Given the description of an element on the screen output the (x, y) to click on. 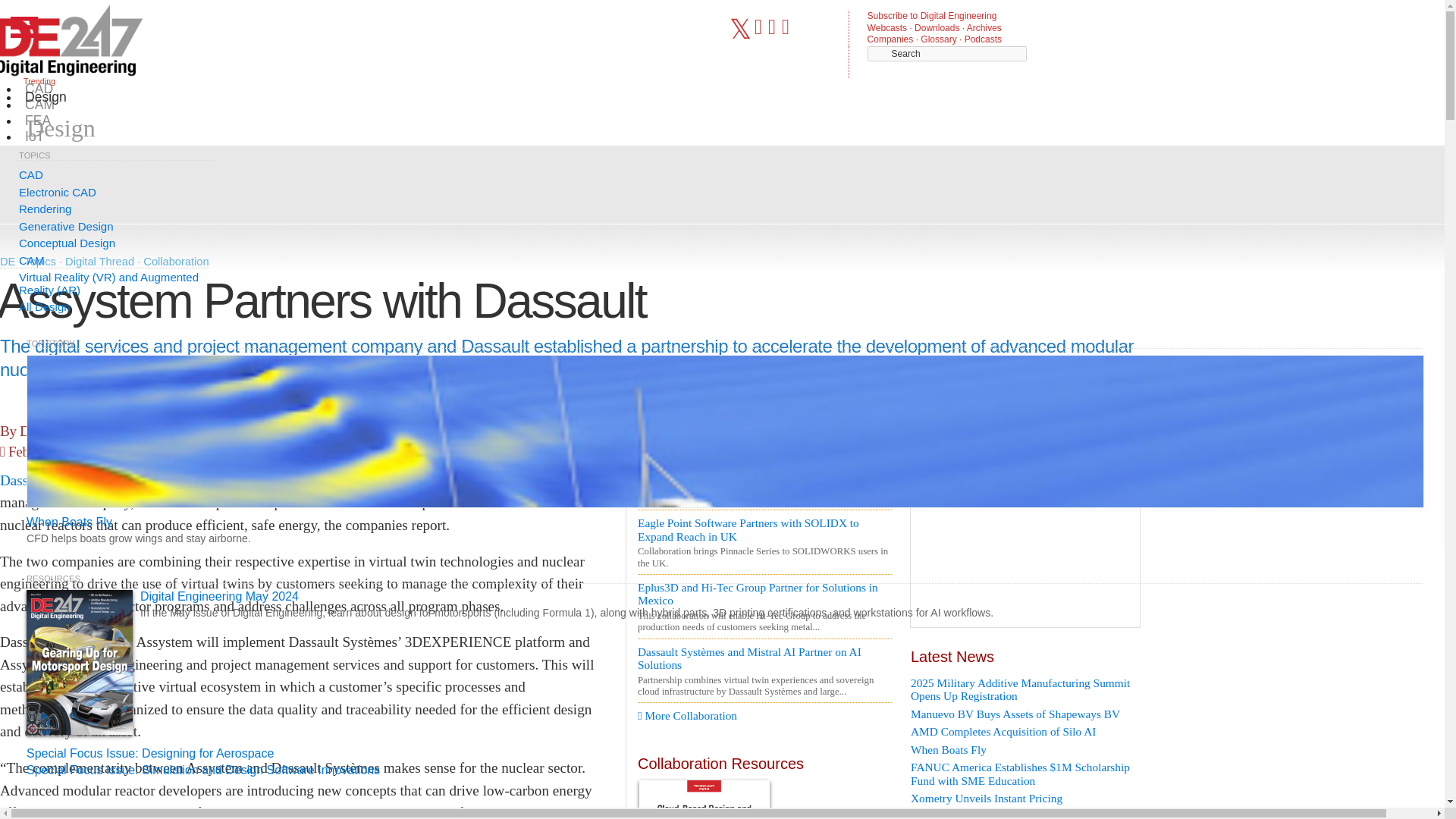
3rd party ad content (571, 182)
Eplus3D and Hi-Tec Group Partner for Solutions in Mexico (764, 593)
Tech Soft 3D, Spatial Expand Partnership (764, 472)
3rd party ad content (1024, 532)
